Given the description of an element on the screen output the (x, y) to click on. 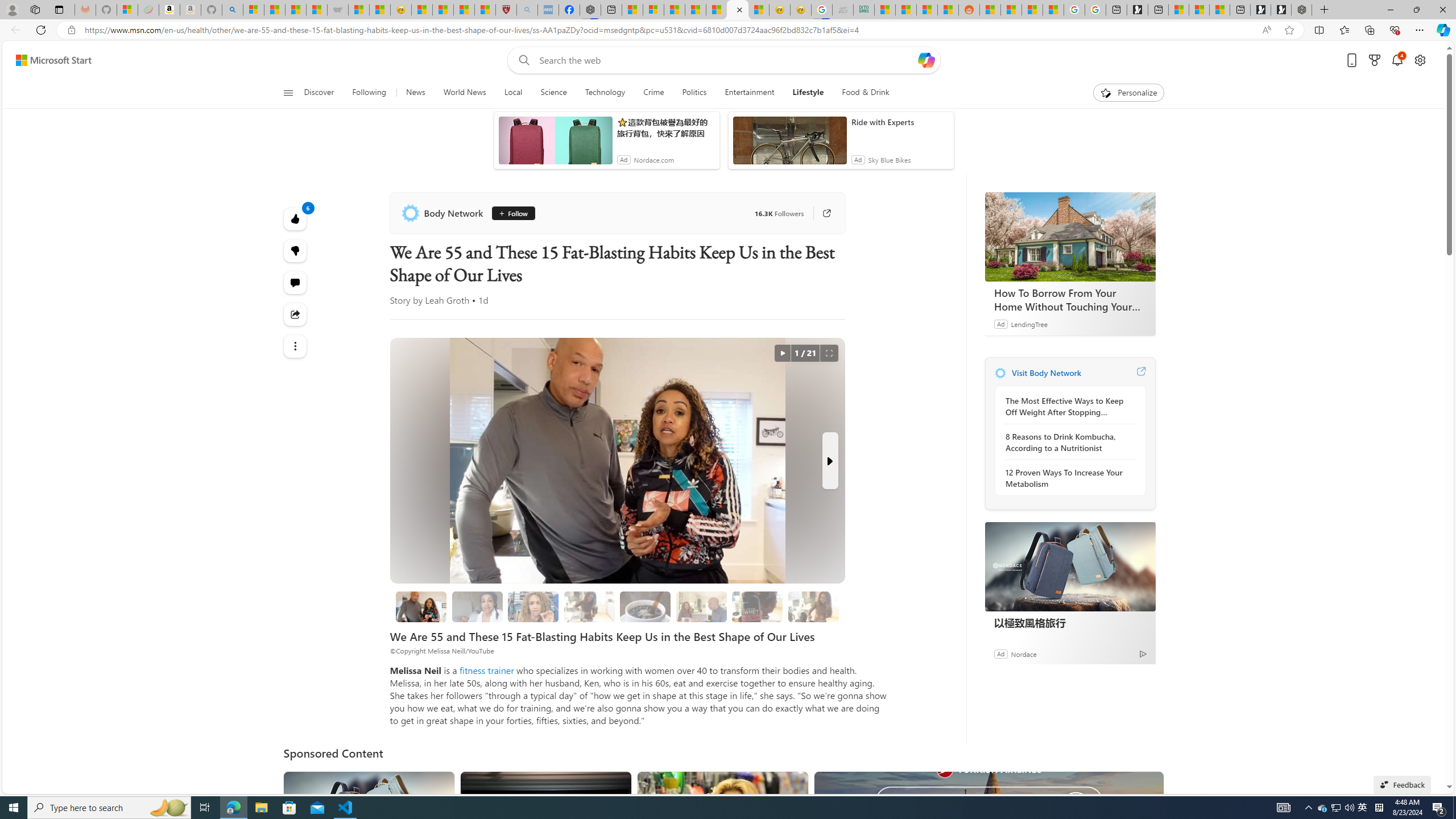
Body Network (1000, 372)
7 They Don't Skip Meals (813, 606)
